Given the description of an element on the screen output the (x, y) to click on. 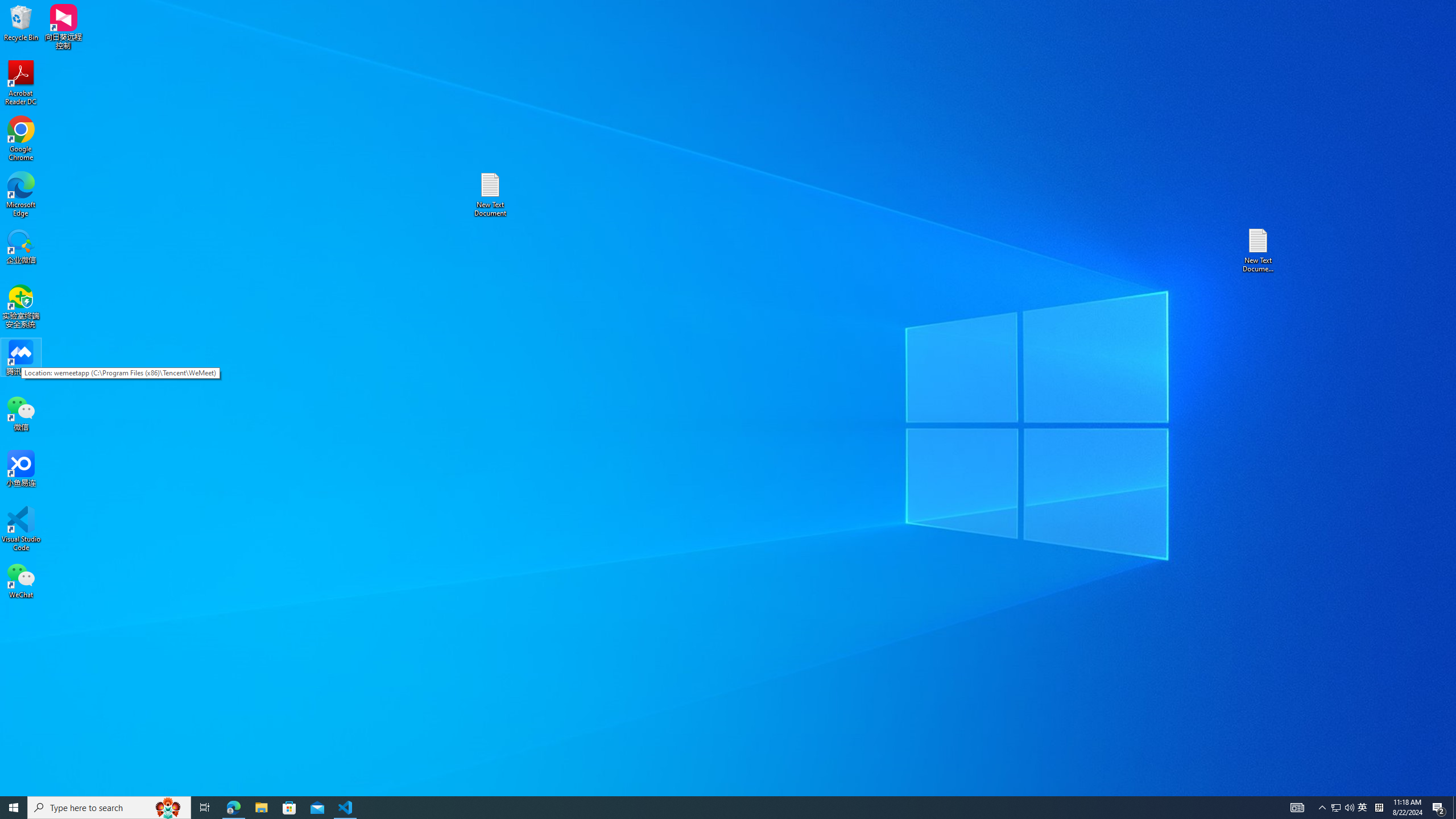
Search highlights icon opens search home window (167, 807)
Action Center, 2 new notifications (1439, 807)
Microsoft Edge (21, 194)
File Explorer (261, 807)
